Given the description of an element on the screen output the (x, y) to click on. 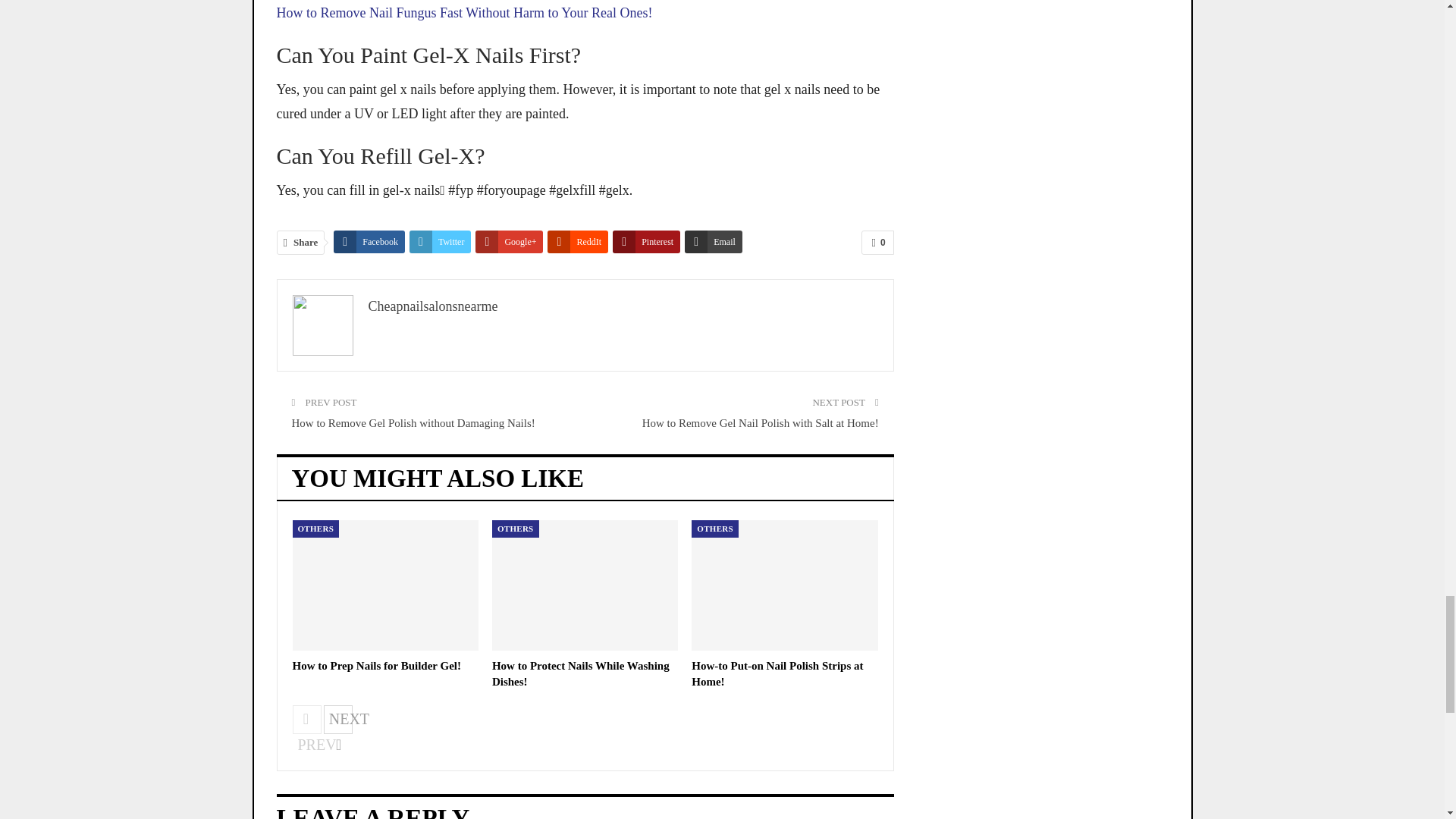
How-to Put-on Nail Polish Strips at Home! (777, 673)
Twitter (439, 241)
How to Protect Nails While Washing Dishes! (580, 673)
How to Prep Nails for Builder Gel! (376, 665)
How to Prep Nails for Builder Gel! (385, 585)
0 (877, 242)
Facebook (368, 241)
How to Protect Nails While Washing Dishes! (585, 585)
How-to Put-on Nail Polish Strips at Home! (784, 585)
